Given the description of an element on the screen output the (x, y) to click on. 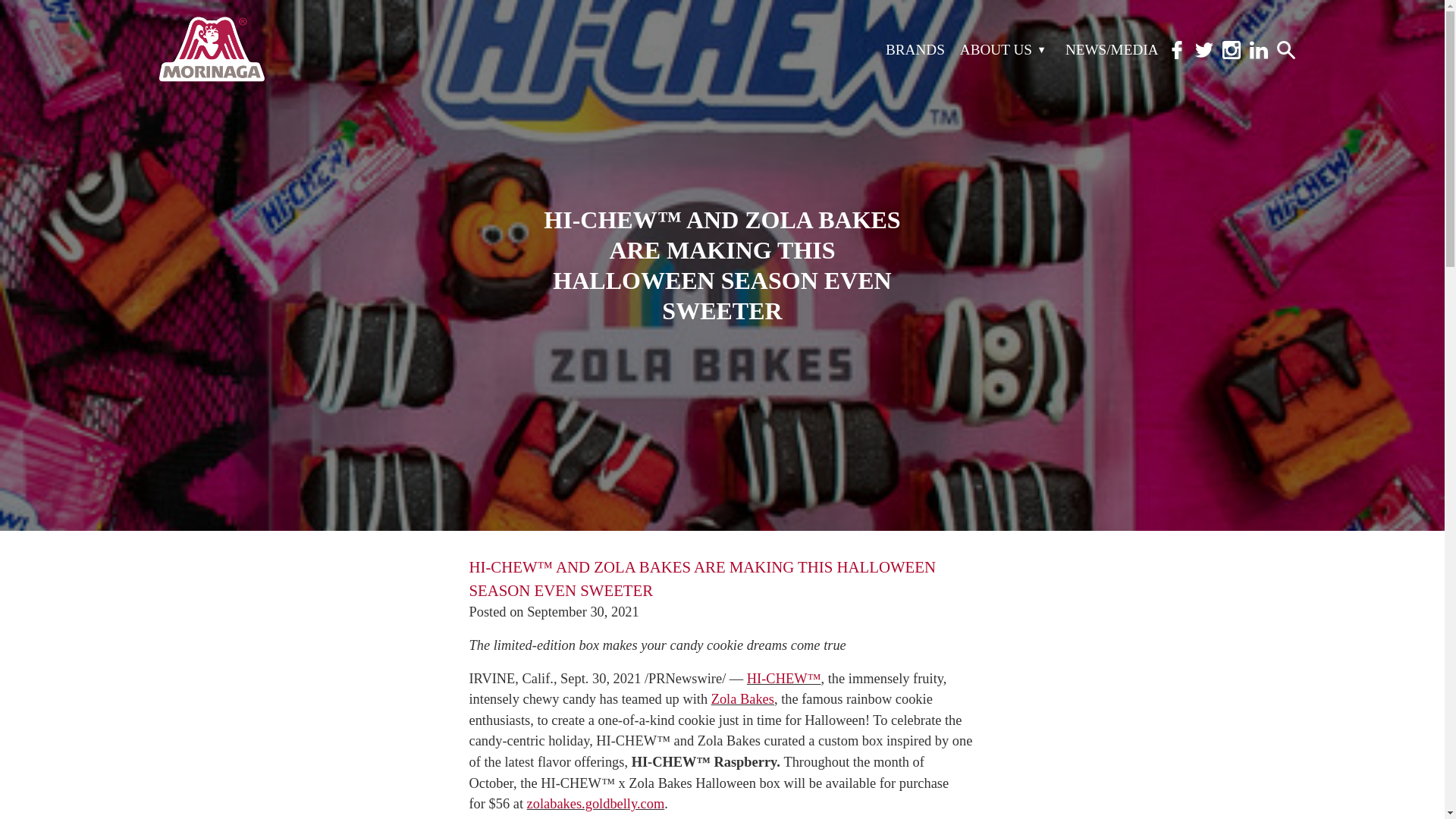
Folow us on Instagram (1231, 49)
Connect with us on LinkedIn (1258, 49)
zolabakes.goldbelly.com (596, 803)
BRANDS (914, 49)
Folow us on Facebook (1176, 54)
Folow us on Instagram (1231, 54)
Connect with us on LinkedIn (1258, 54)
Folow us on Twitter (1203, 49)
Folow us on Twitter (1203, 54)
Connect with us on LinkedIn (1285, 54)
